Given the description of an element on the screen output the (x, y) to click on. 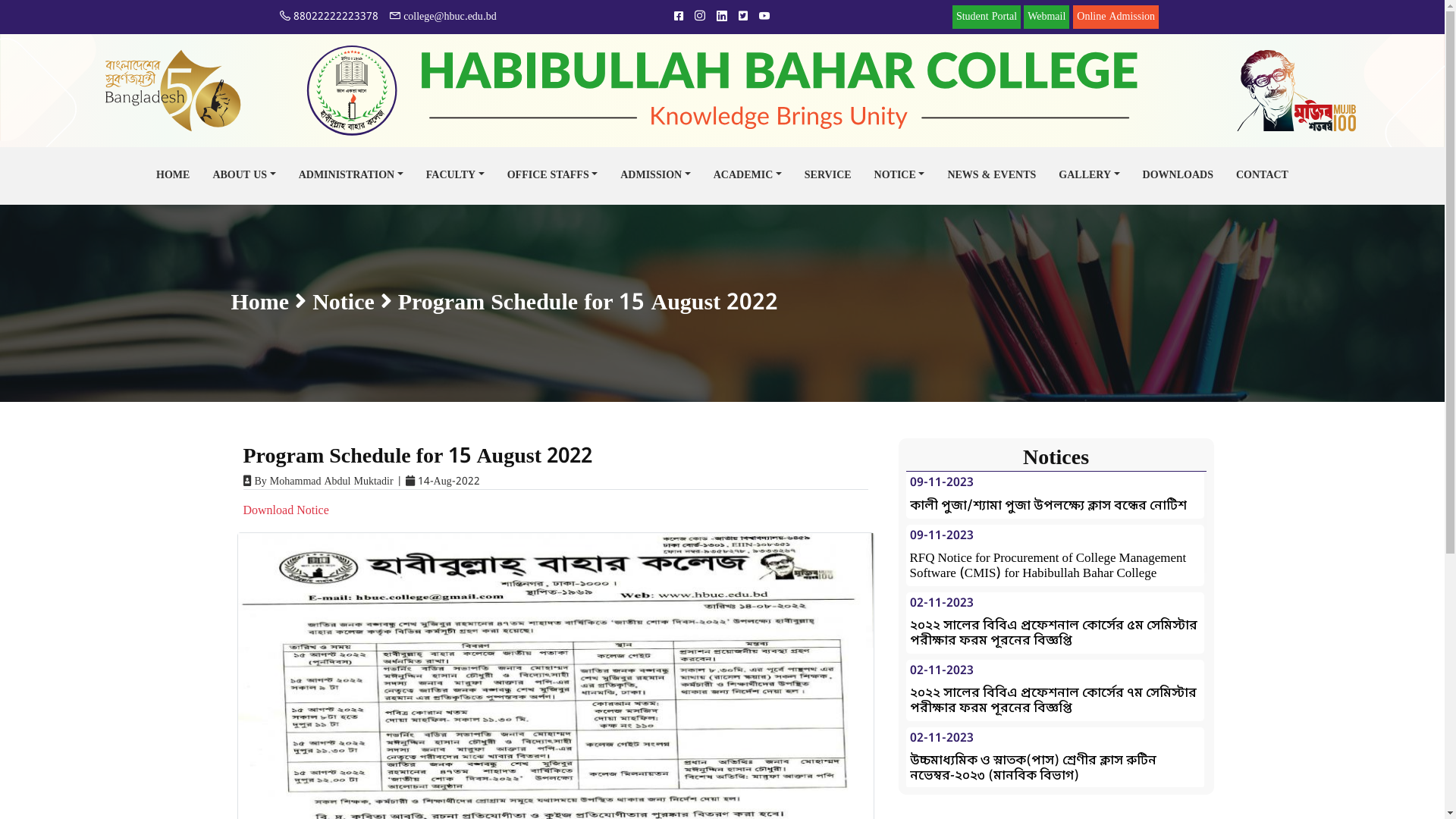
ADMINISTRATION Element type: text (350, 175)
ACADEMIC Element type: text (747, 175)
CONTACT Element type: text (1262, 175)
college@hbuc.edu.bd Element type: text (442, 16)
ABOUT US Element type: text (243, 175)
Online Admission Element type: text (1115, 16)
FACULTY Element type: text (455, 175)
88022222223378 Element type: text (329, 16)
DOWNLOADS Element type: text (1177, 175)
Webmail Element type: text (1046, 16)
NEWS & EVENTS Element type: text (991, 175)
GALLERY Element type: text (1088, 175)
OFFICE STAFFS Element type: text (552, 175)
ADMISSION Element type: text (655, 175)
Student Portal Element type: text (986, 16)
SERVICE Element type: text (827, 175)
NOTICE Element type: text (899, 175)
Home Element type: text (259, 302)
Notice Element type: text (343, 302)
Download Notice Element type: text (285, 511)
HOME Element type: text (172, 175)
